Given the description of an element on the screen output the (x, y) to click on. 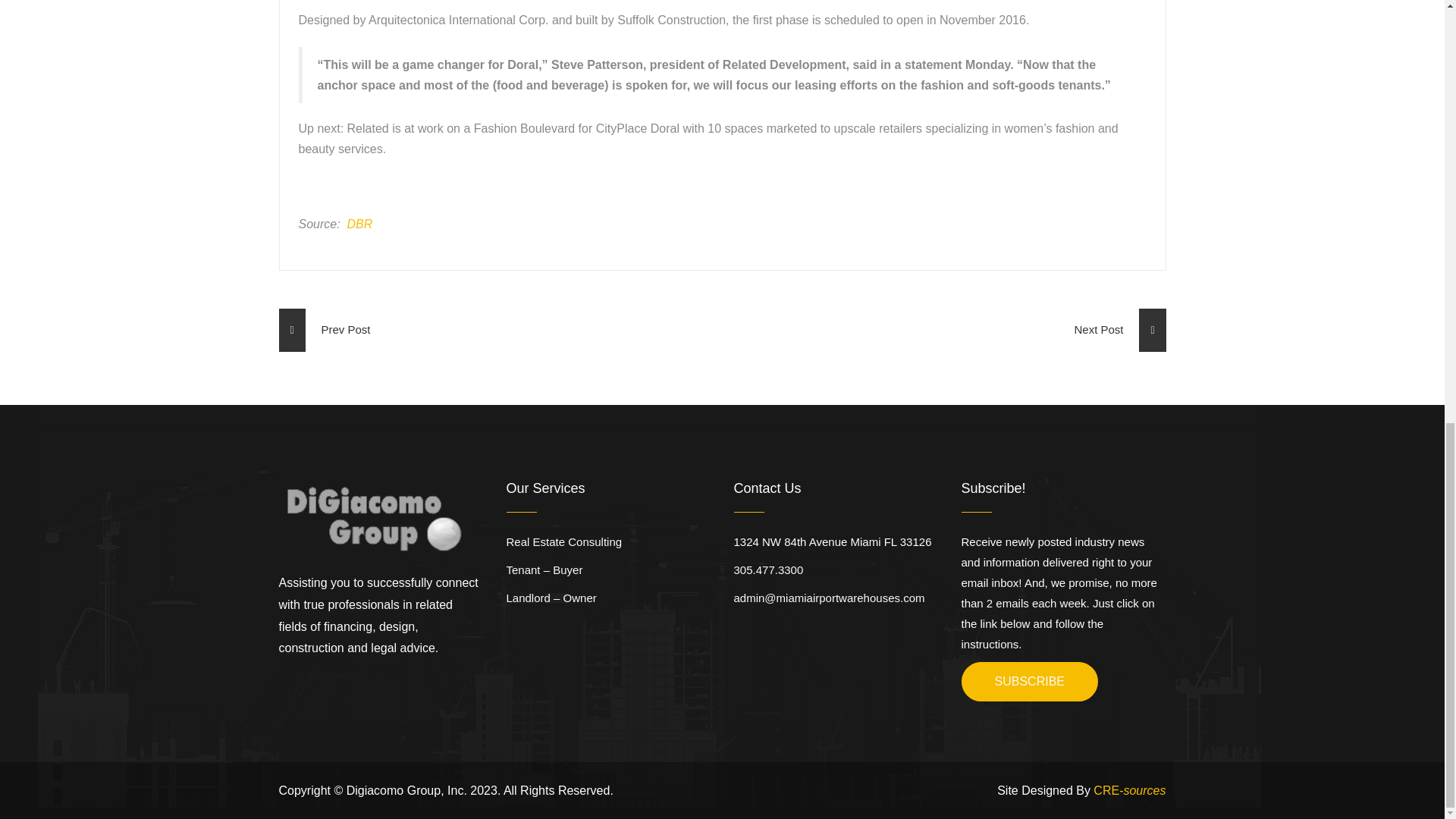
SUBSCRIBE (1028, 681)
Real Estate Consulting (564, 541)
DBR (359, 223)
    Prev Post (325, 330)
CRE-sources (1129, 789)
Next Post     (1120, 330)
305.477.3300 (768, 569)
